Given the description of an element on the screen output the (x, y) to click on. 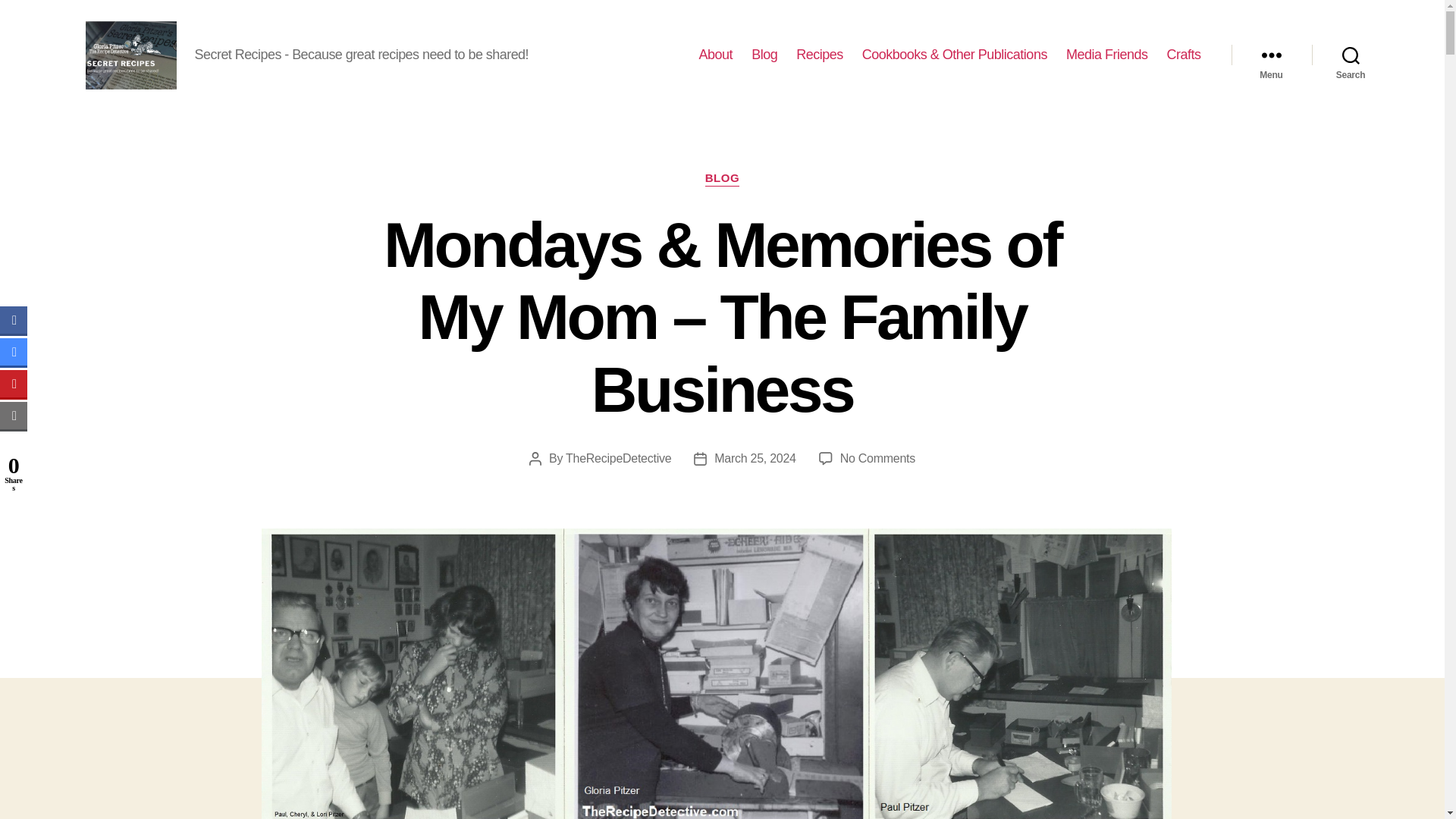
Recipes (819, 54)
TheRecipeDetective (618, 458)
BLOG (721, 178)
Media Friends (1106, 54)
Menu (1271, 55)
Search (1350, 55)
Blog (764, 54)
About (715, 54)
Crafts (1182, 54)
March 25, 2024 (754, 458)
